Given the description of an element on the screen output the (x, y) to click on. 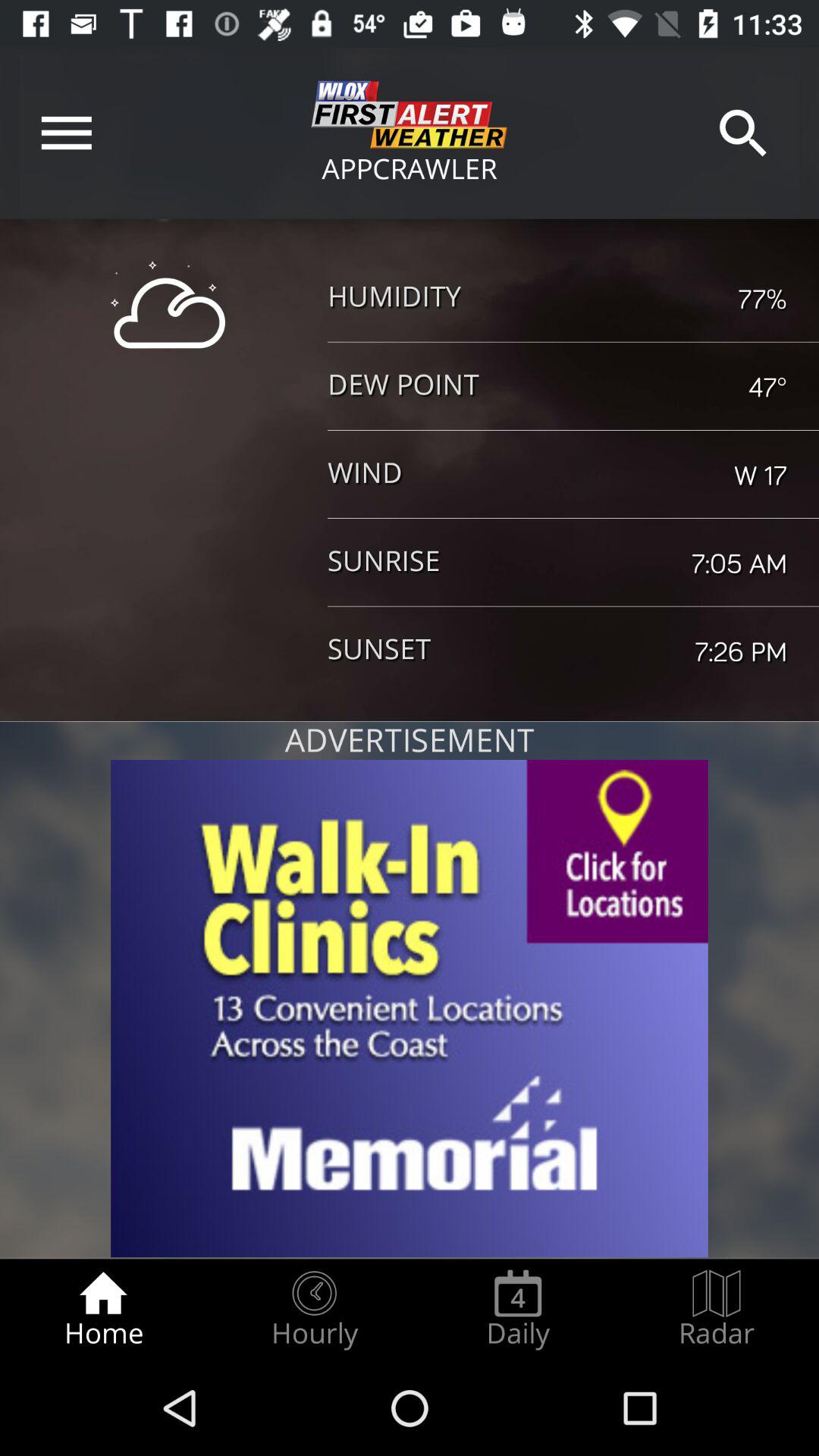
jump until the home (103, 1309)
